Given the description of an element on the screen output the (x, y) to click on. 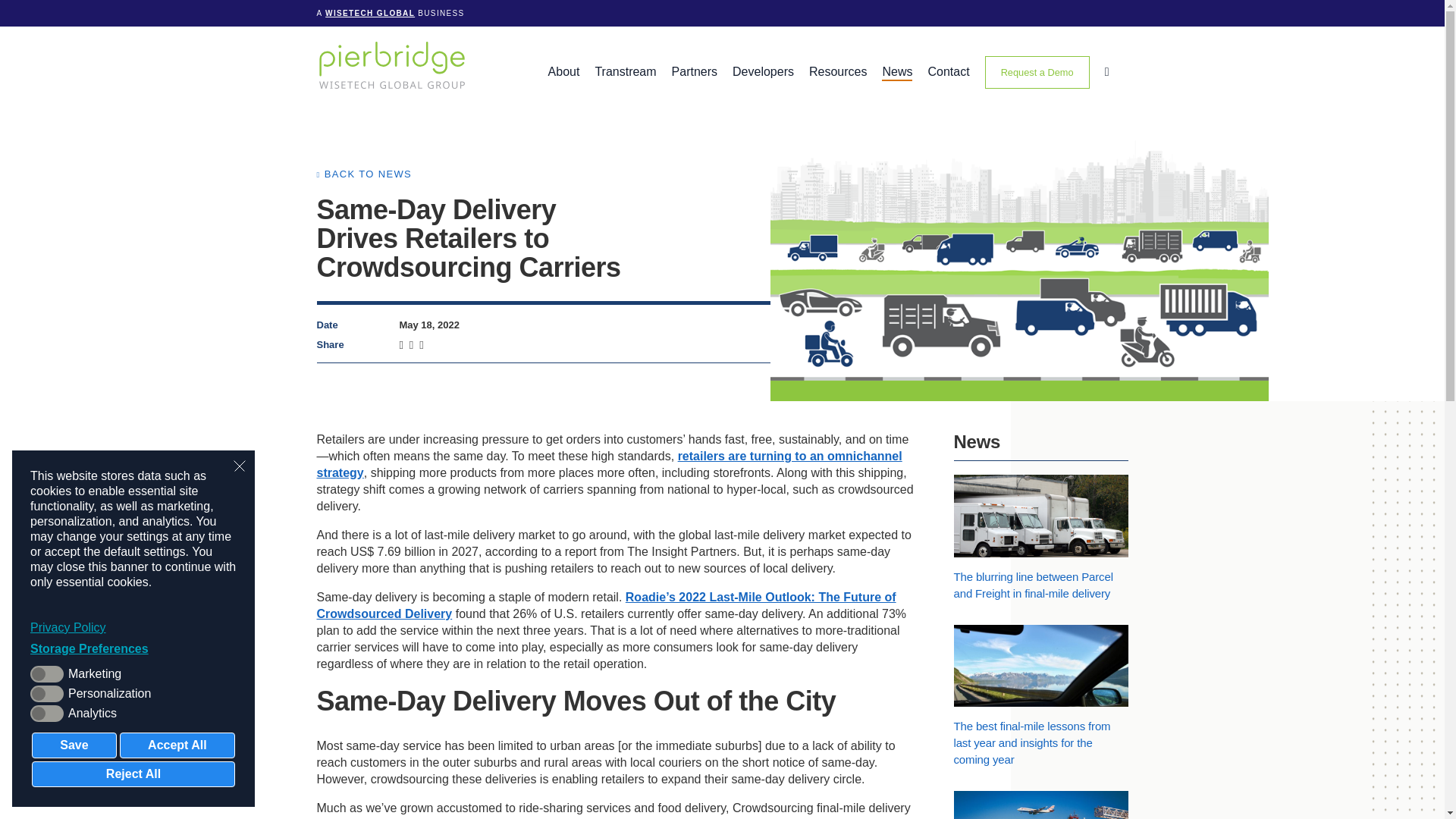
WISETECH GLOBAL (369, 13)
Transtream (625, 72)
Reject All (133, 774)
Pierbridge (392, 64)
Request a Demo (1037, 72)
BACK TO NEWS (364, 173)
Accept All (176, 745)
retailers are turning to an omnichannel strategy (609, 464)
Privacy Policy (132, 627)
News (897, 72)
Developers (762, 72)
Contact (948, 72)
Resources (837, 72)
